Given the description of an element on the screen output the (x, y) to click on. 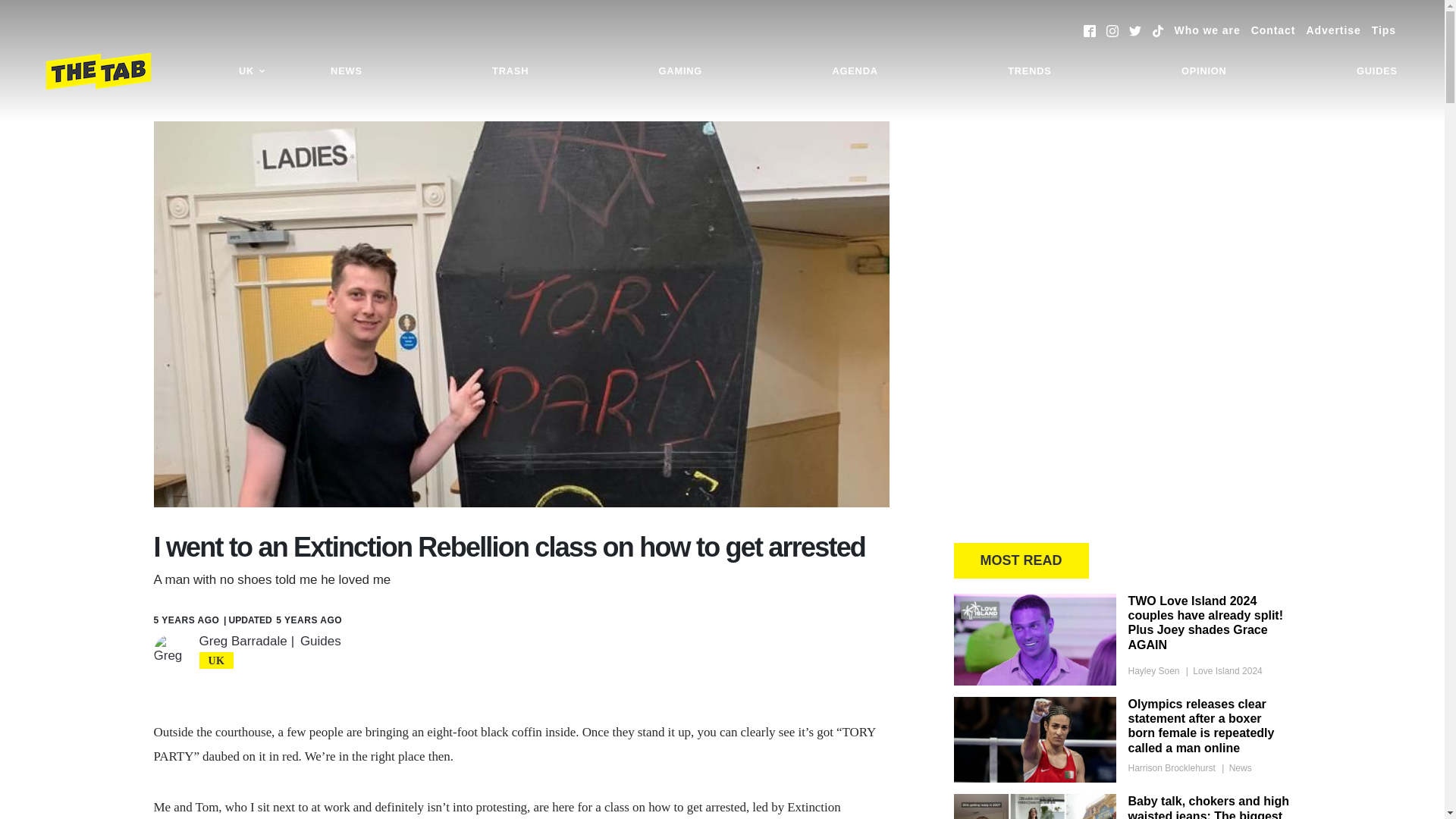
Who we are (1207, 29)
TRASH (510, 71)
OPINION (1204, 71)
GUIDES (1377, 71)
AGENDA (854, 71)
UK (252, 71)
GAMING (680, 71)
NEWS (346, 71)
Tips (1383, 29)
TRENDS (1028, 71)
Contact (1272, 29)
Advertise (1332, 29)
